Given the description of an element on the screen output the (x, y) to click on. 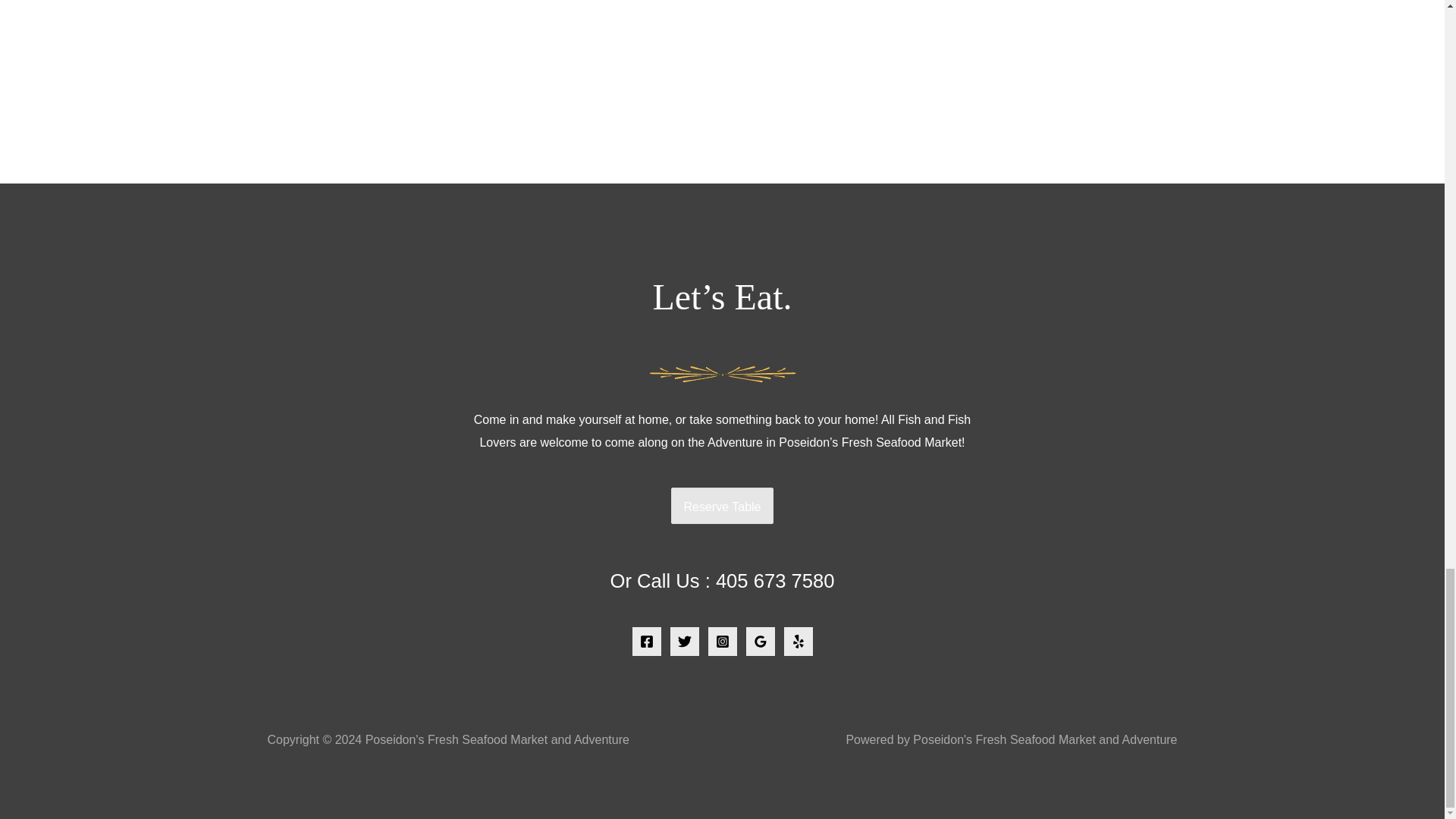
Reserve Table (721, 506)
Reserve Table (721, 505)
